Given the description of an element on the screen output the (x, y) to click on. 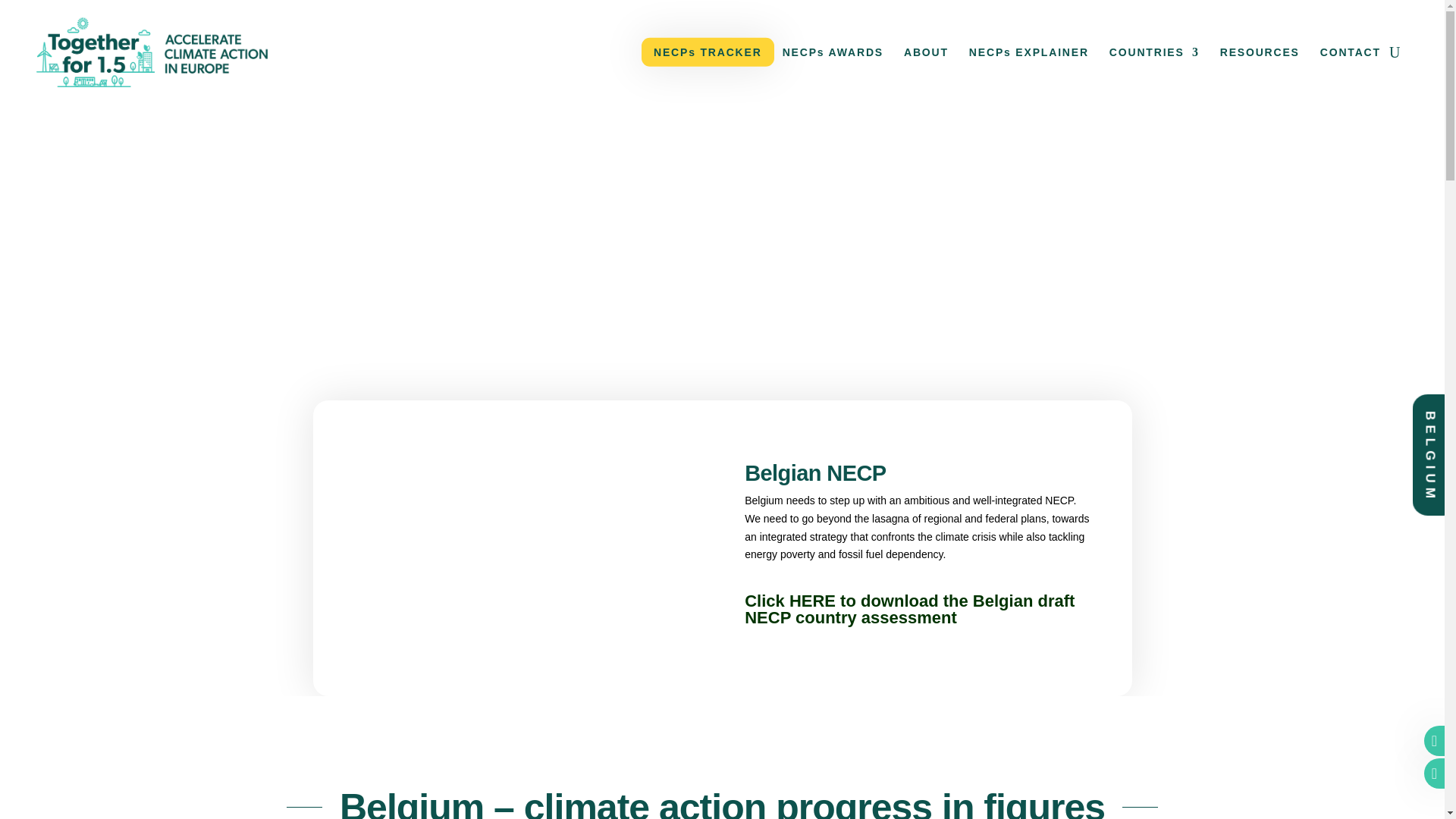
NECPs AWARDS (833, 52)
NECPs TRACKER (707, 52)
NECPs EXPLAINER (1029, 52)
COUNTRIES (1154, 52)
